Given the description of an element on the screen output the (x, y) to click on. 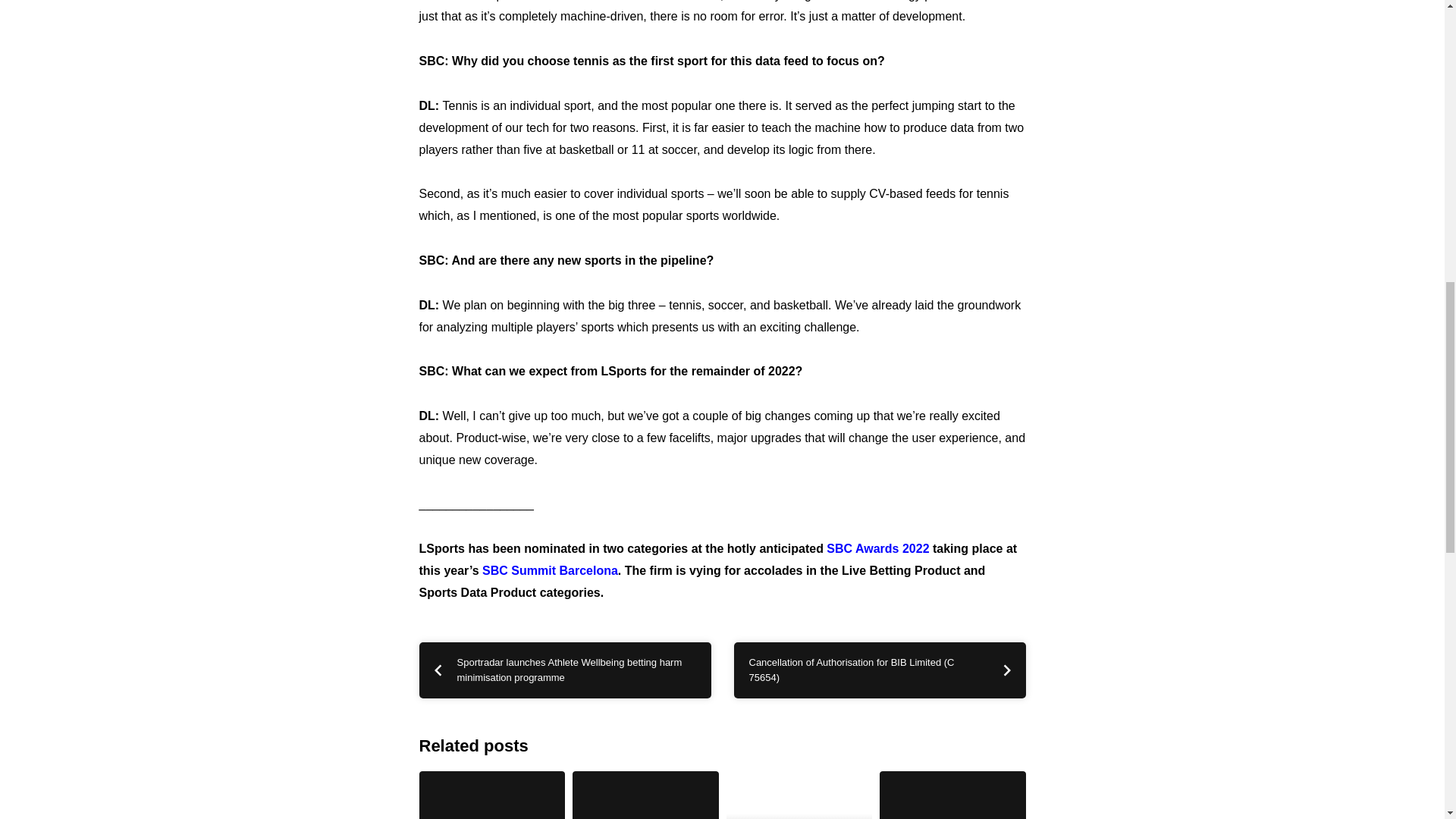
UKGC orders immediate suspension of BGO Entertainment (491, 795)
NFL seeks unrestricted UK coverage with ITV  (645, 795)
Kambi puts faith in product development to offset H1 hurdles (799, 795)
